Given the description of an element on the screen output the (x, y) to click on. 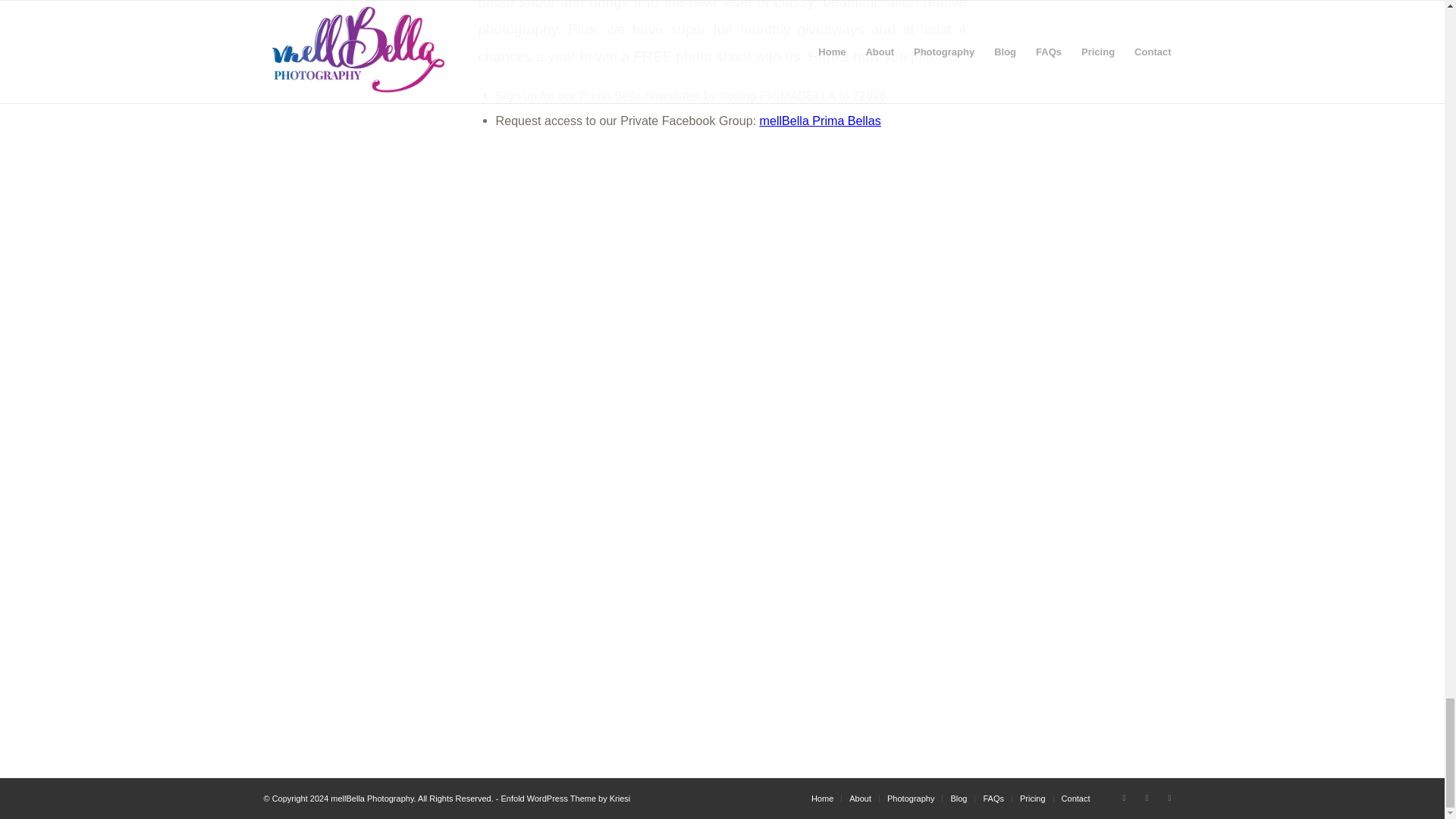
Pinterest (1146, 797)
About (859, 798)
Home (821, 798)
FAQs (993, 798)
mellBella Prima Bellas (820, 120)
Blog (958, 798)
Instagram (1169, 797)
Photography (910, 798)
Facebook (1124, 797)
Enfold WordPress Theme by Kriesi (565, 798)
